Given the description of an element on the screen output the (x, y) to click on. 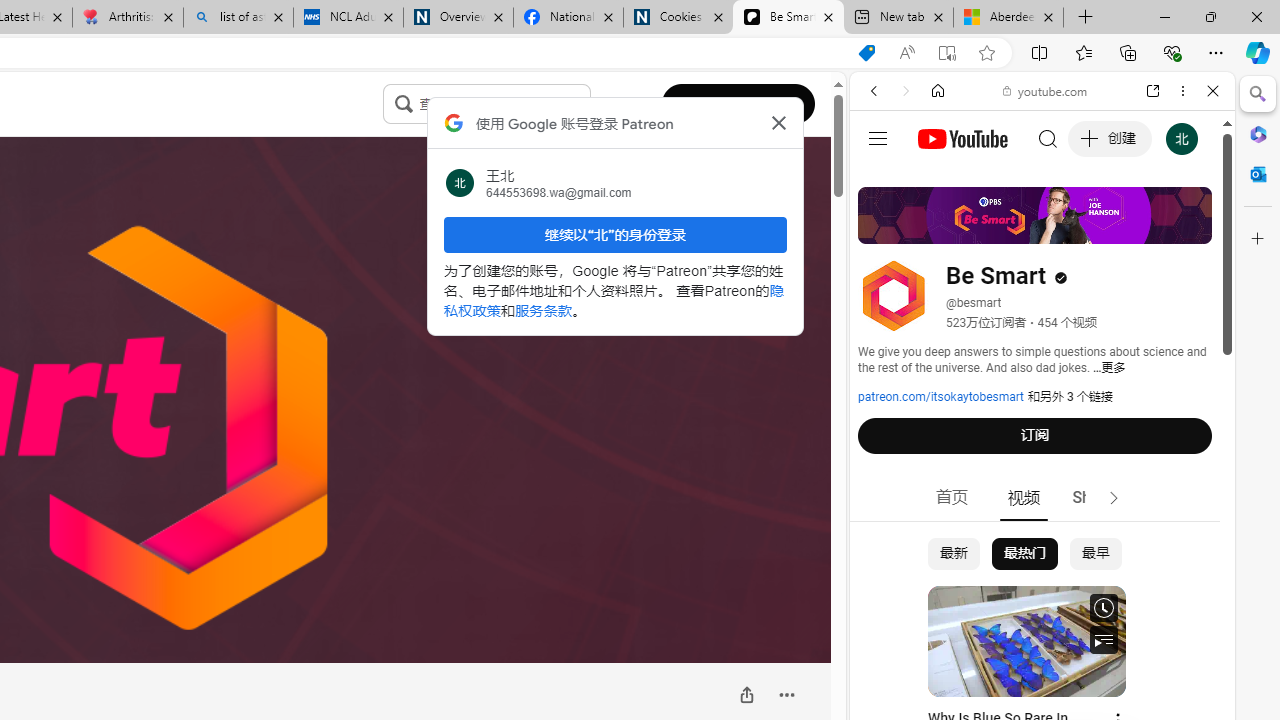
Class: sc-gUQvok bqiJlM (585, 103)
AutomationID: right (1113, 497)
